Given the description of an element on the screen output the (x, y) to click on. 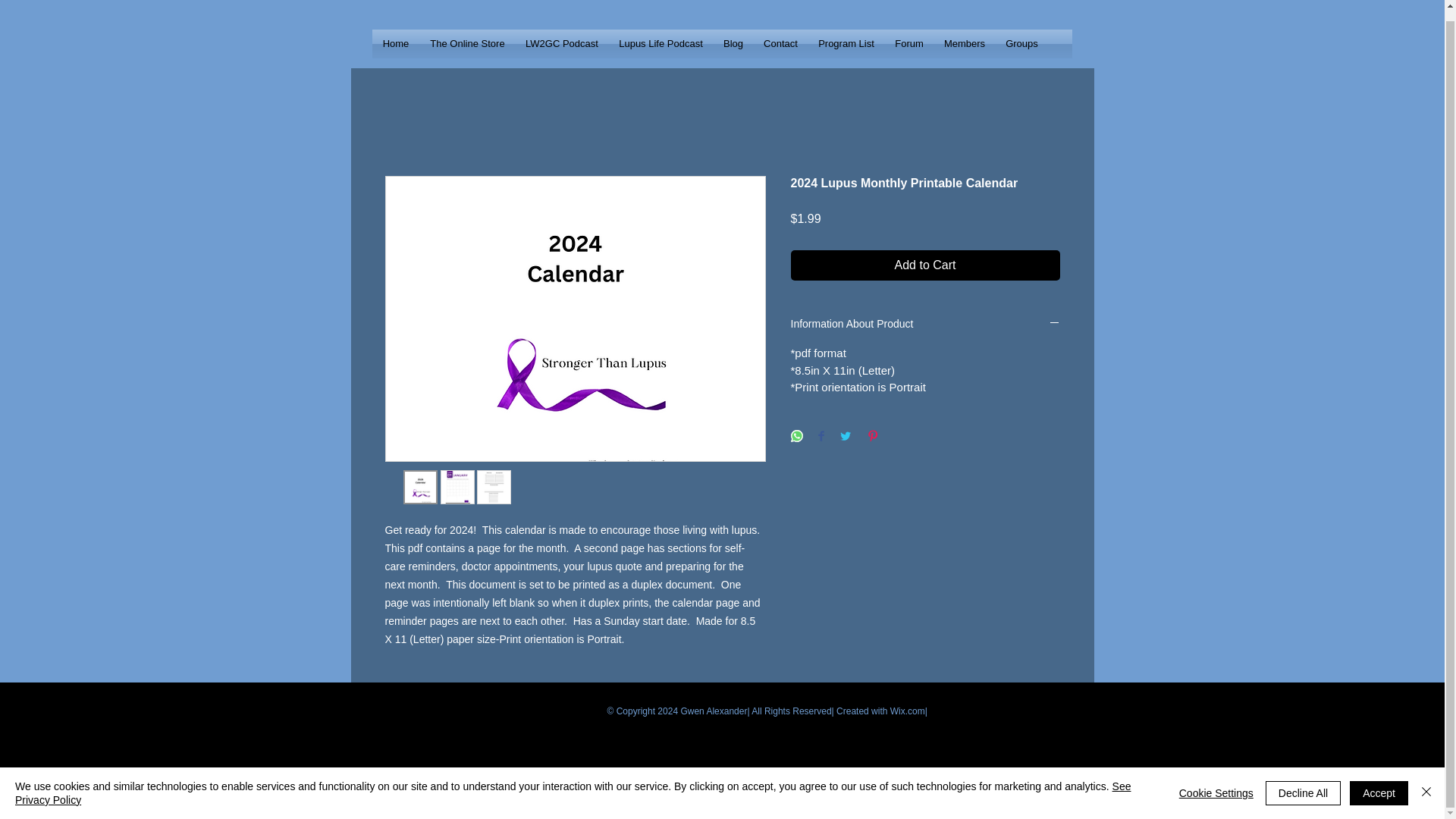
Lupus Life Podcast (660, 43)
Decline All (1302, 782)
LW2GC Podcast (561, 43)
See Privacy Policy (572, 782)
Contact (781, 43)
Blog (732, 43)
The Online Store (467, 43)
Home (395, 43)
Accept (1378, 782)
Program List (846, 43)
